Given the description of an element on the screen output the (x, y) to click on. 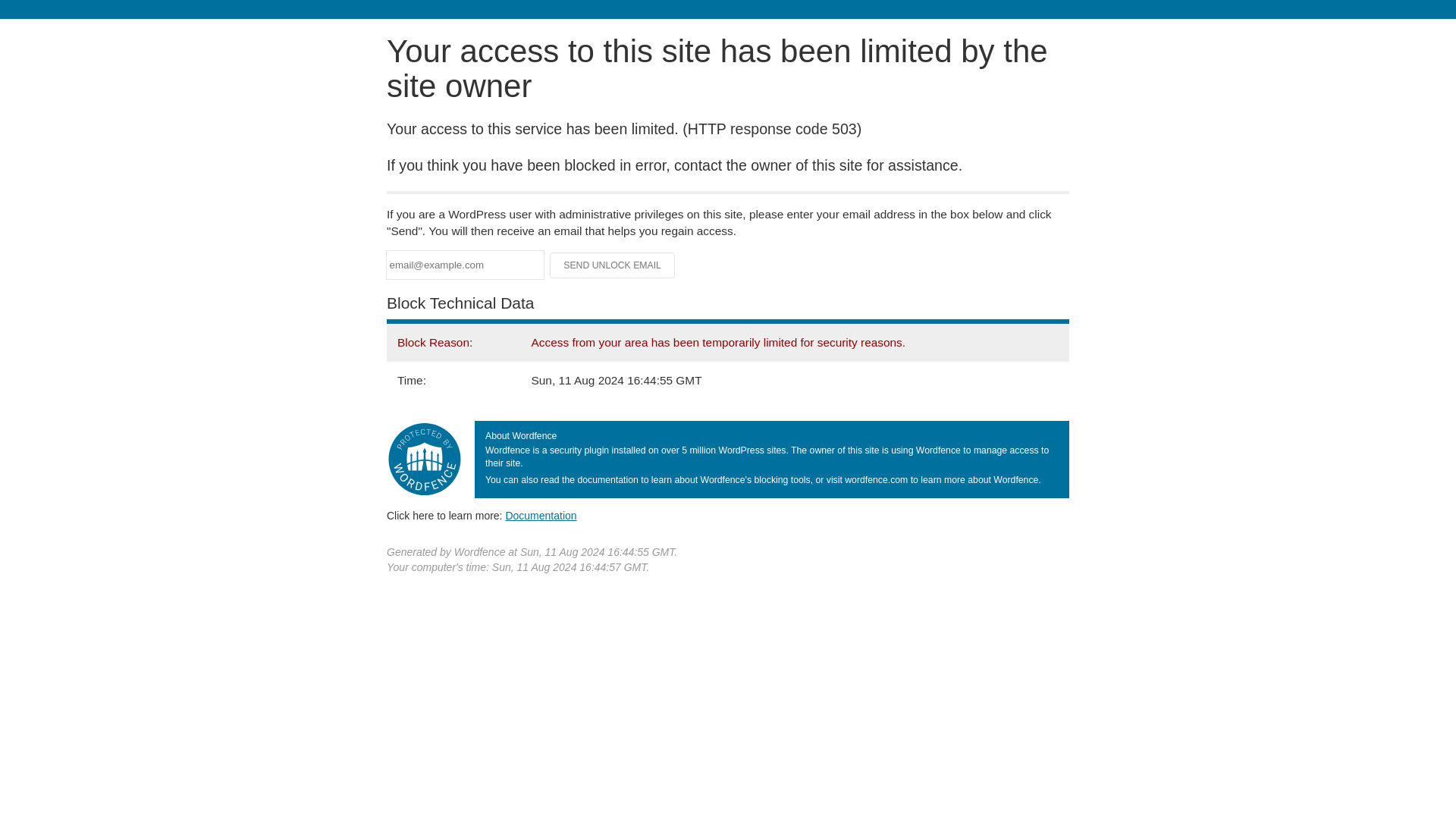
Send Unlock Email (612, 265)
Send Unlock Email (612, 265)
Documentation (540, 515)
